Given the description of an element on the screen output the (x, y) to click on. 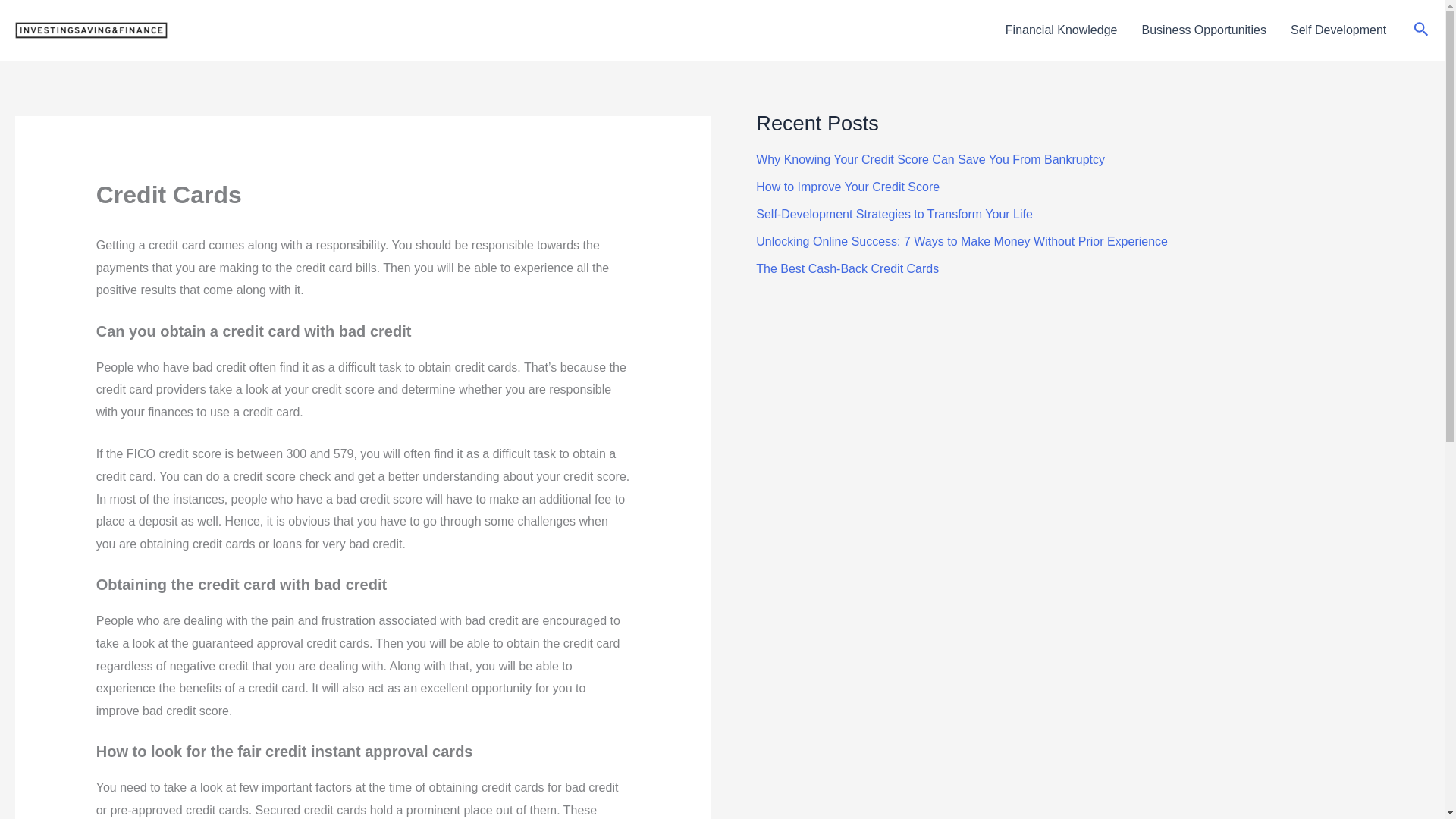
Business Opportunities (1203, 30)
Why Knowing Your Credit Score Can Save You From Bankruptcy (930, 159)
Self-Development Strategies to Transform Your Life (893, 214)
The Best Cash-Back Credit Cards (847, 268)
Self Development (1337, 30)
How to Improve Your Credit Score (847, 186)
Financial Knowledge (1060, 30)
